Given the description of an element on the screen output the (x, y) to click on. 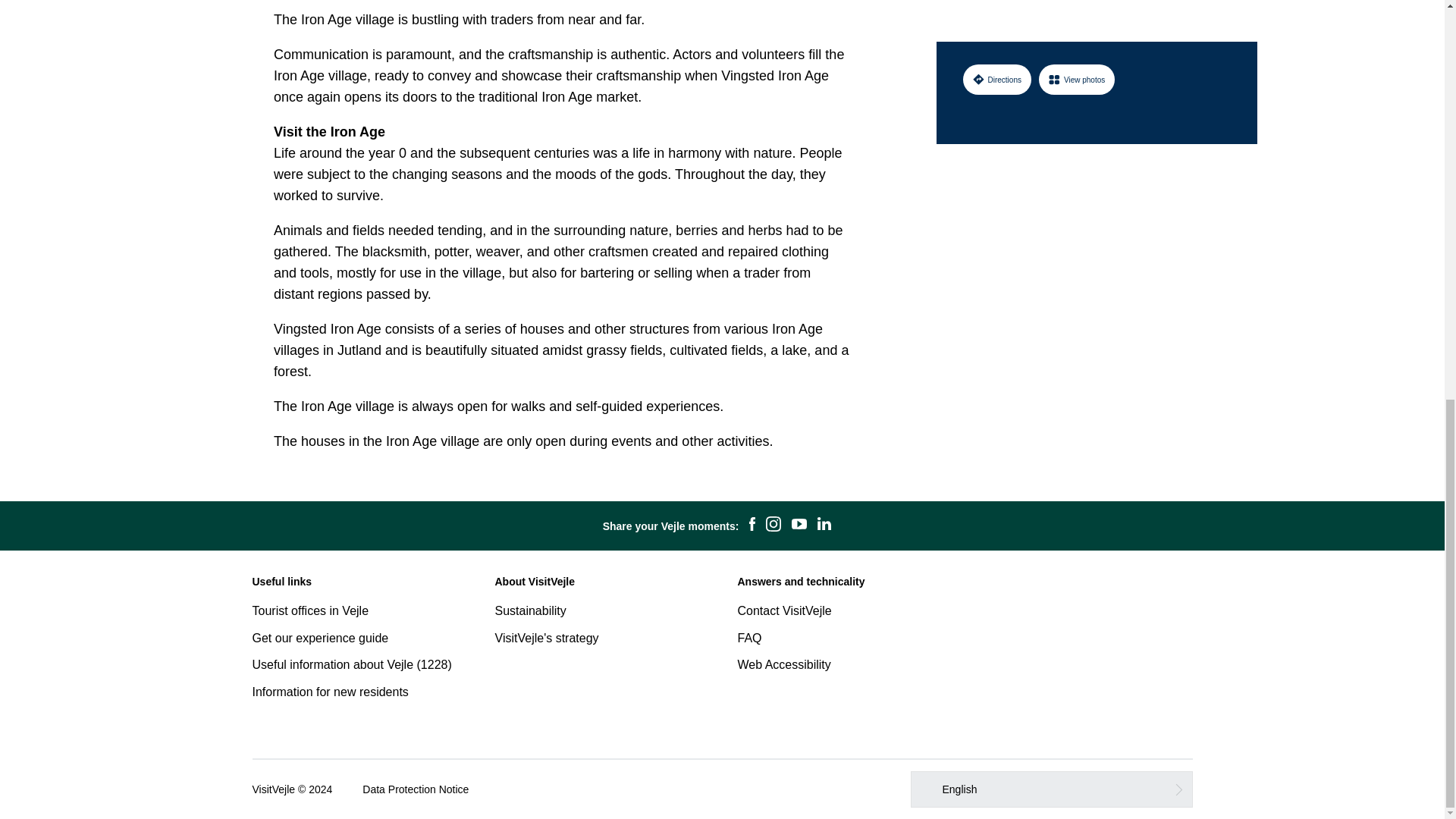
FAQ (748, 637)
Sustainability (530, 610)
VisitVejle's strategy (546, 637)
facebook (752, 525)
Web Accessibility (782, 664)
VisitVejle's strategy (546, 637)
Sustainability (530, 610)
Get our experience guide (319, 637)
Information for new residents (329, 691)
Data Protection Notice (415, 789)
